Given the description of an element on the screen output the (x, y) to click on. 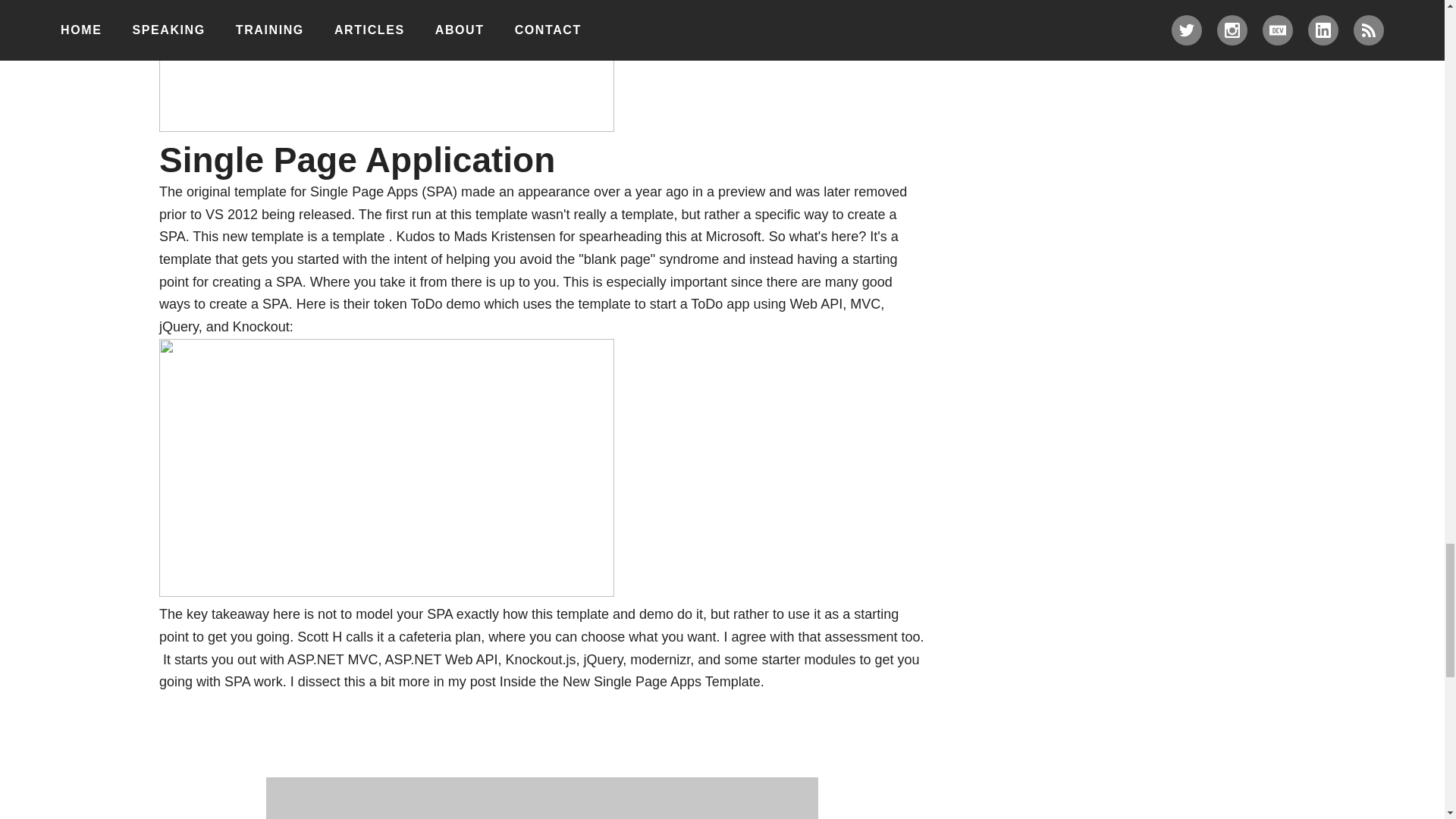
facebook (386, 65)
spa demo (386, 468)
Mads Kristensen (505, 236)
